Given the description of an element on the screen output the (x, y) to click on. 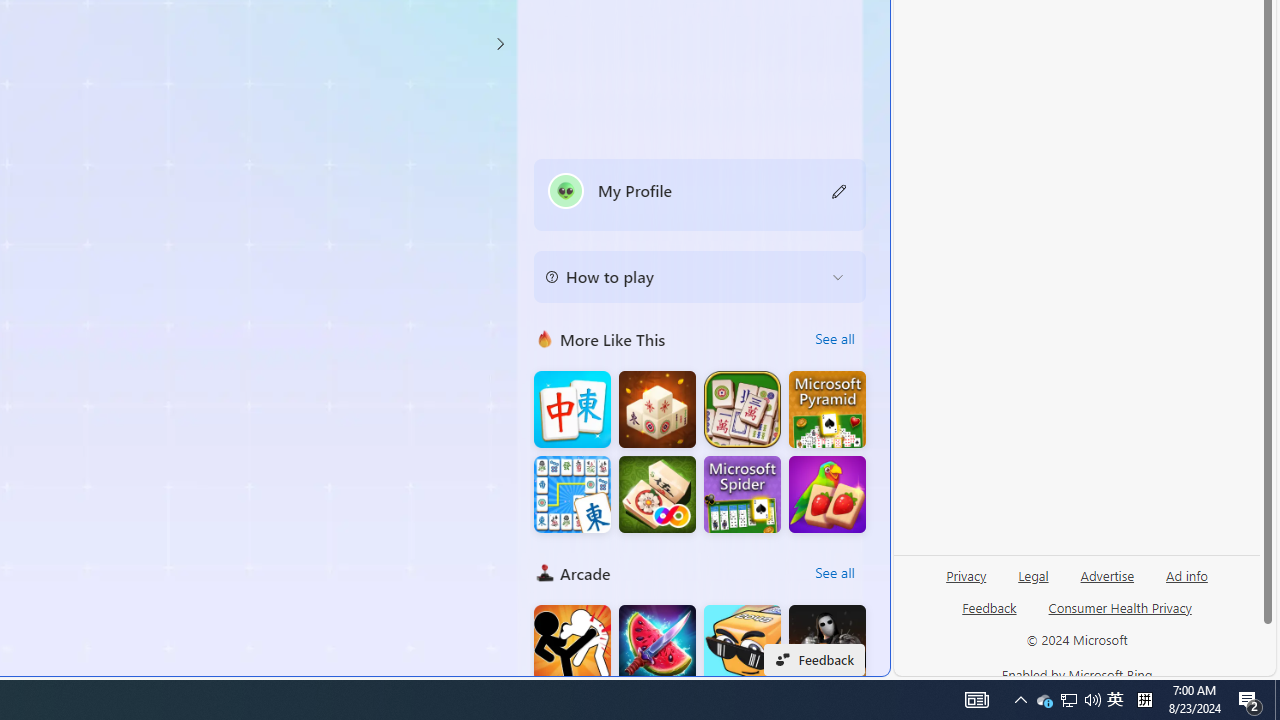
See all (834, 572)
Mahjong Big (571, 409)
Mahjong Connect Deluxe (571, 494)
How to play (683, 276)
Fruit Chopper (657, 643)
Hunter Hitman (827, 643)
Microsoft Spider Solitaire (742, 494)
Daily Mahjong (742, 409)
